Given the description of an element on the screen output the (x, y) to click on. 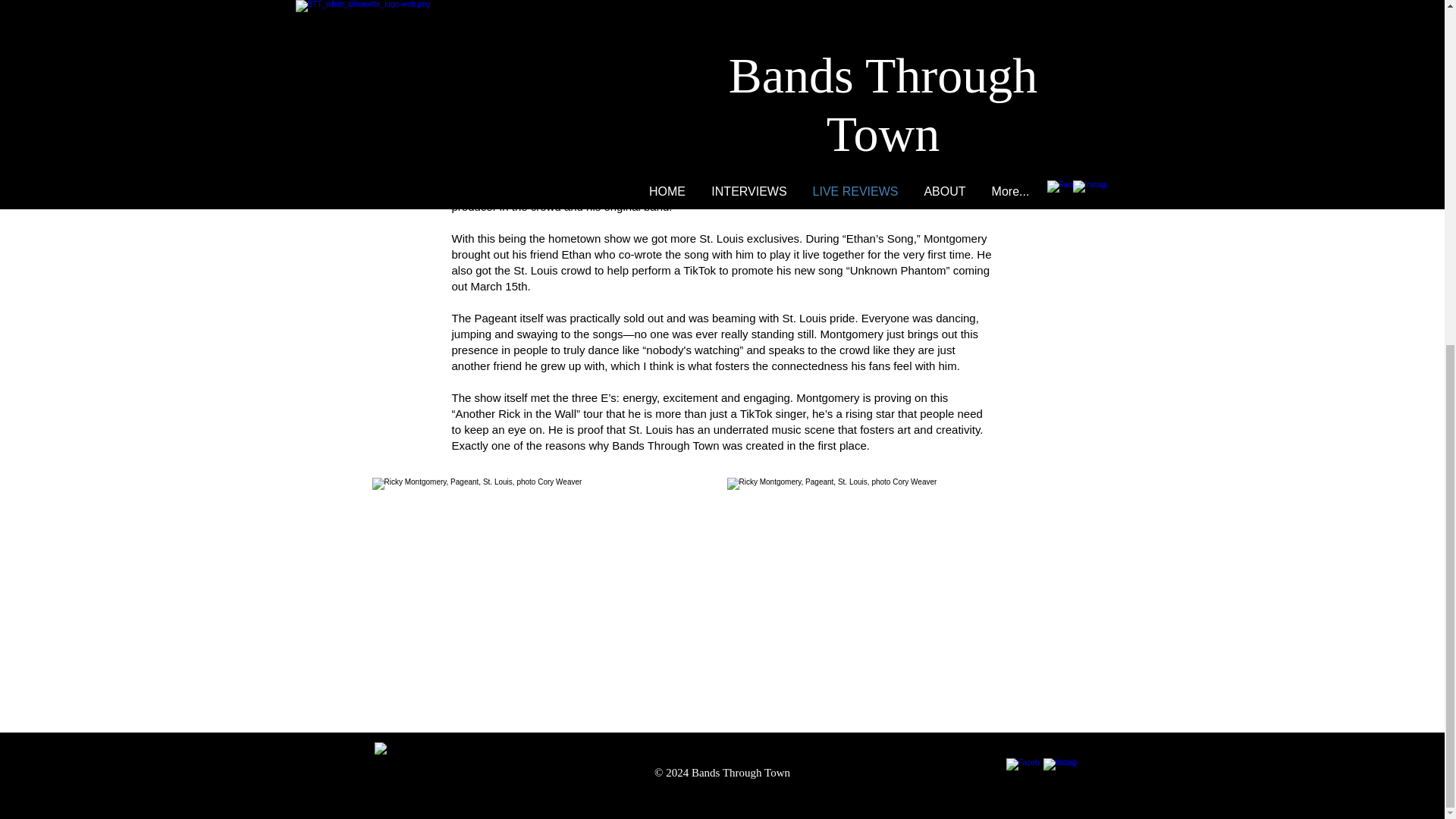
Ricky Montgomery, Pageant, St. Louis, photo Cory Weaver (543, 592)
Ricky Montgomery, Pageant, St. Louis, photo Cory Weaver (713, 18)
Ricky Montgomery, Pageant, St. Louis, photo Cory Weaver (898, 592)
